Given the description of an element on the screen output the (x, y) to click on. 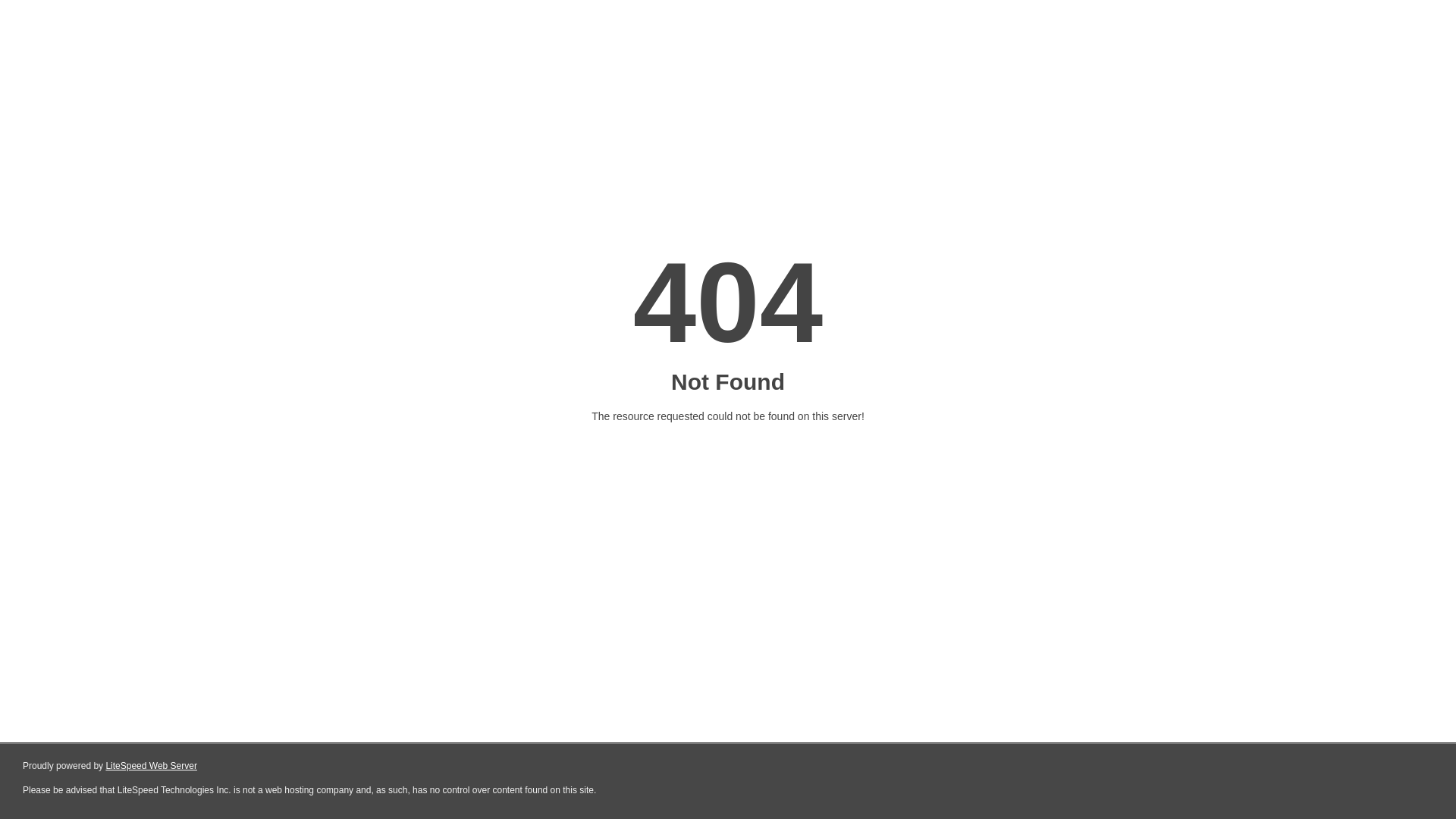
LiteSpeed Web Server Element type: text (151, 765)
